Given the description of an element on the screen output the (x, y) to click on. 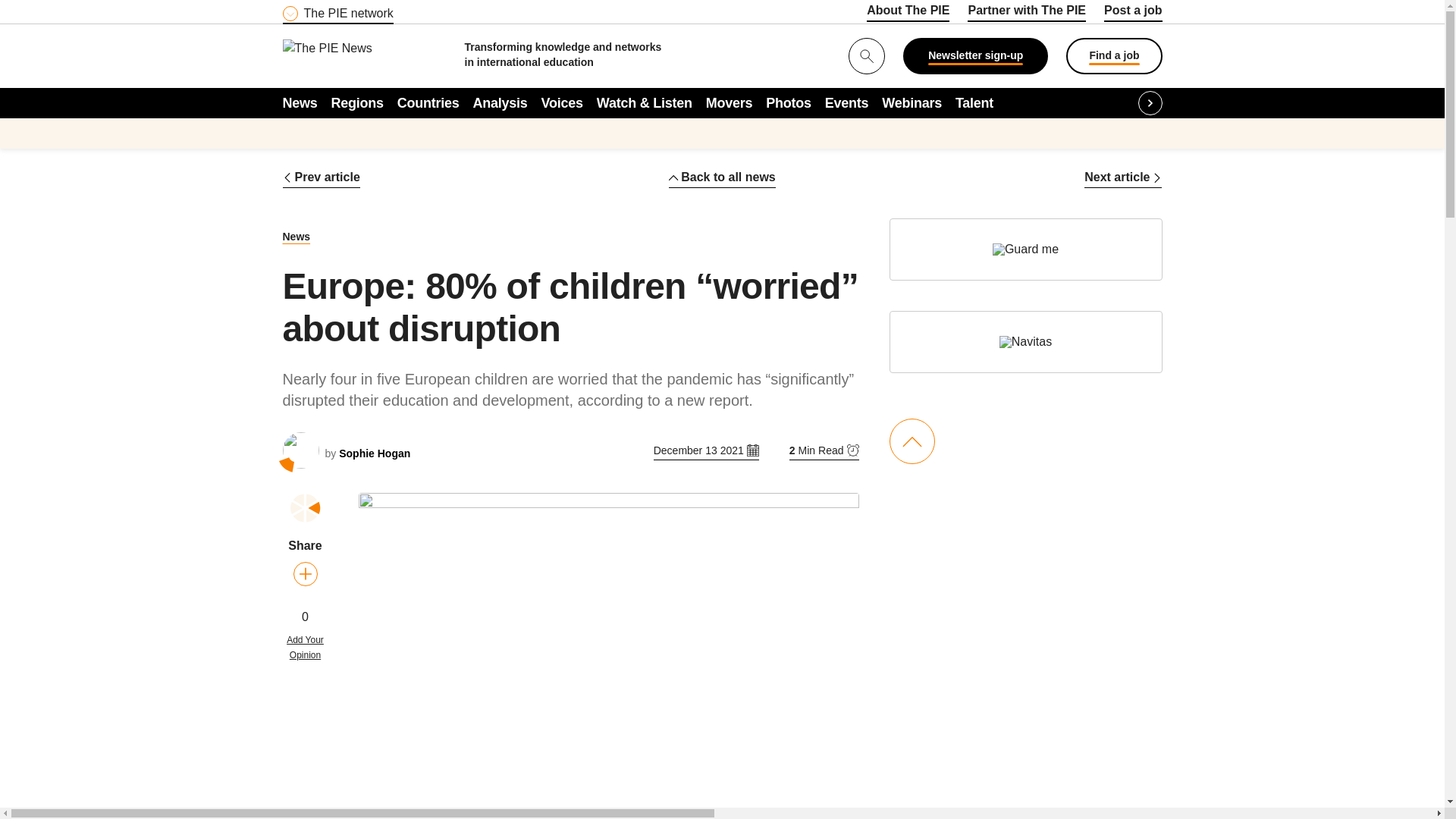
Countries (428, 102)
Submit (18, 9)
Post a job (1132, 13)
Content (373, 9)
Partner with The PIE (1027, 13)
Newsletter sign-up (975, 55)
Find a job (1113, 55)
About The PIE (907, 13)
Regions (357, 102)
